Given the description of an element on the screen output the (x, y) to click on. 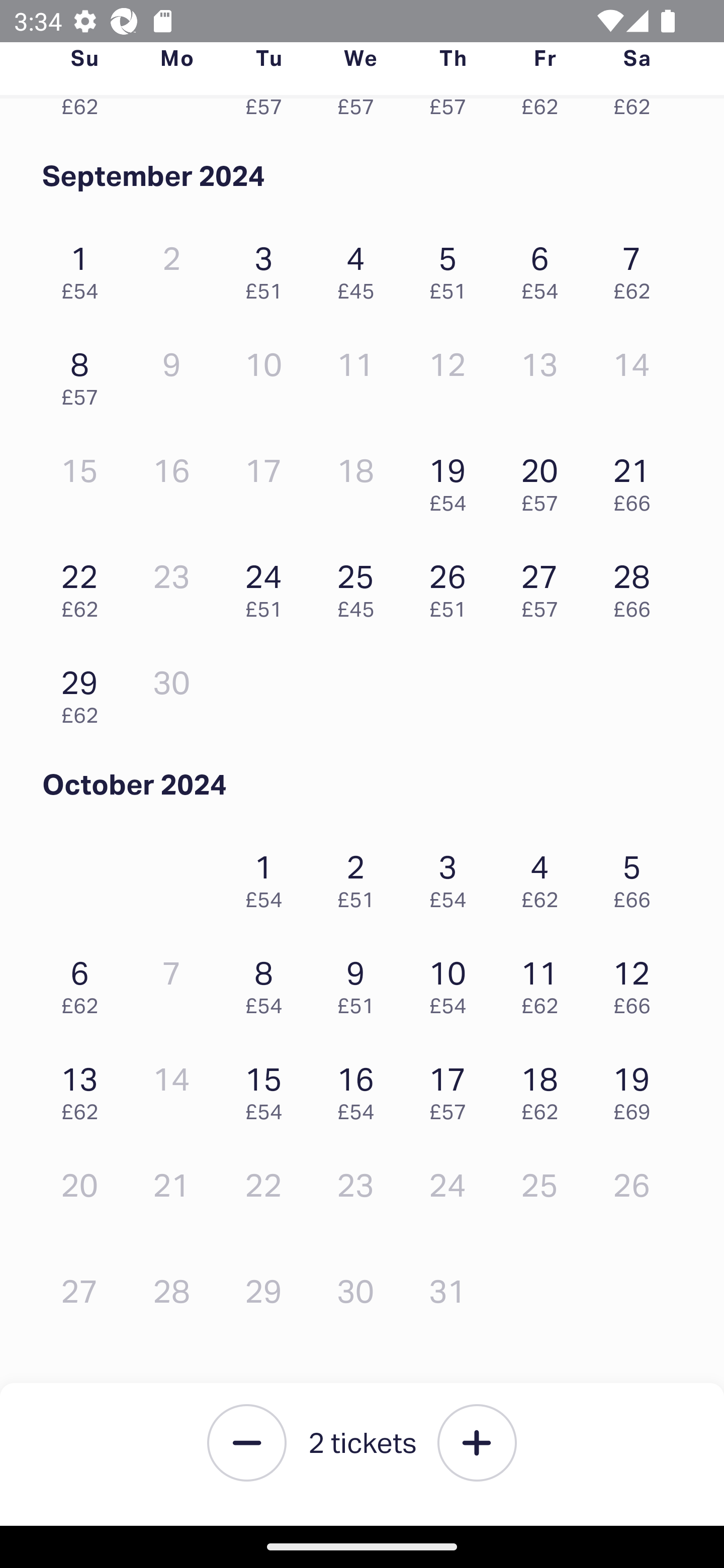
1 £54 (84, 267)
3 £51 (268, 267)
4 £45 (360, 267)
5 £51 (452, 267)
6 £54 (544, 267)
7 £62 (636, 267)
8 £57 (84, 373)
19 £54 (452, 480)
20 £57 (544, 480)
21 £66 (636, 480)
22 £62 (84, 585)
24 £51 (268, 585)
25 £45 (360, 585)
26 £51 (452, 585)
27 £57 (544, 585)
28 £66 (636, 585)
29 £62 (84, 691)
1 £54 (268, 876)
2 £51 (360, 876)
3 £54 (452, 876)
4 £62 (544, 876)
5 £66 (636, 876)
6 £62 (84, 981)
8 £54 (268, 981)
9 £51 (360, 981)
10 £54 (452, 981)
11 £62 (544, 981)
12 £66 (636, 981)
13 £62 (84, 1088)
15 £54 (268, 1088)
16 £54 (360, 1088)
17 £57 (452, 1088)
18 £62 (544, 1088)
19 £69 (636, 1088)
